Given the description of an element on the screen output the (x, y) to click on. 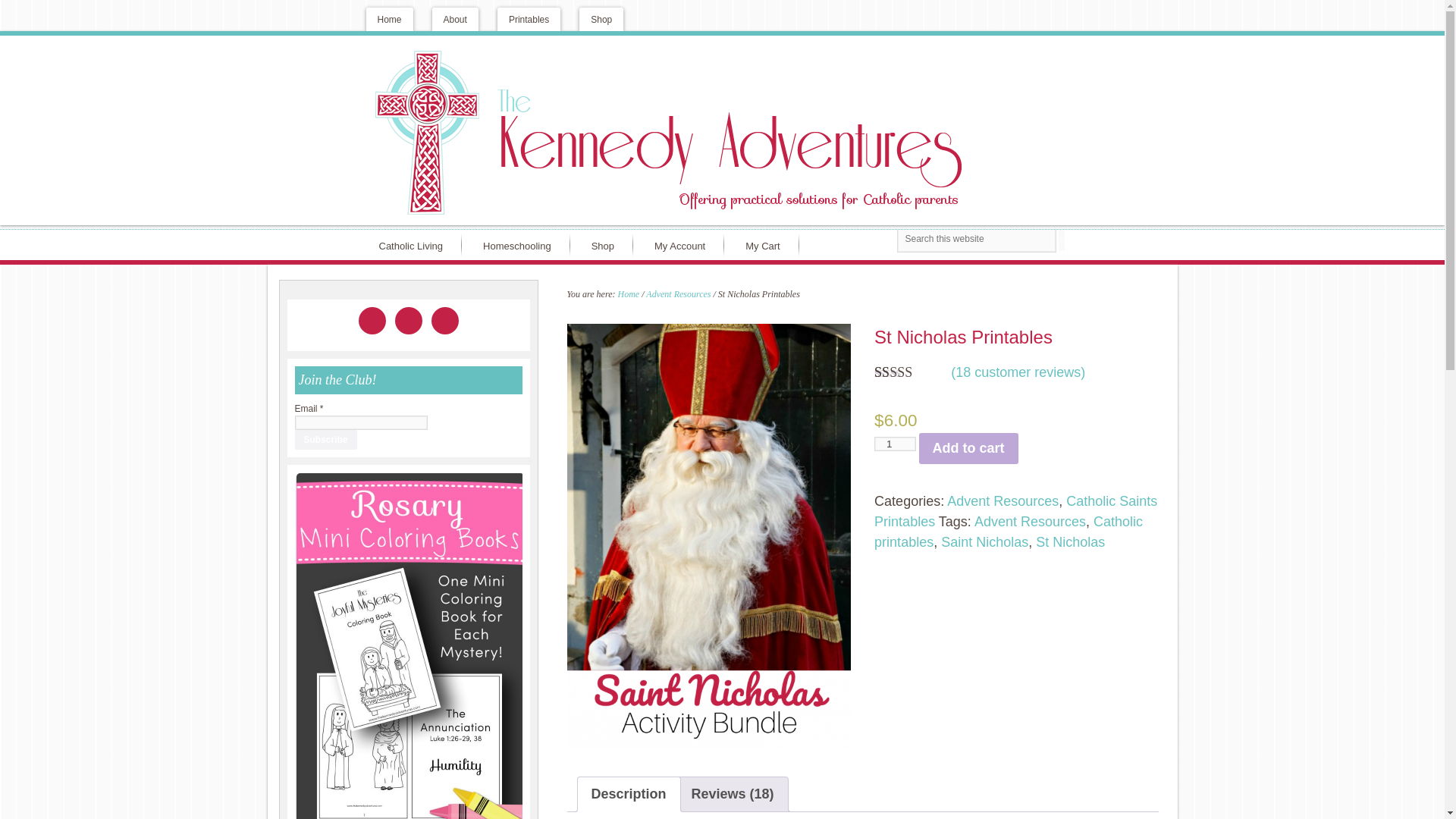
Catholic printables (1008, 531)
Subscribe (325, 439)
Homeschooling (520, 245)
St Nicholas (1070, 541)
My Account (683, 245)
Advent Resources (1030, 521)
Shop (601, 19)
Description (628, 794)
Saint Nicholas (983, 541)
Catholic Saints Printables (1016, 511)
